Given the description of an element on the screen output the (x, y) to click on. 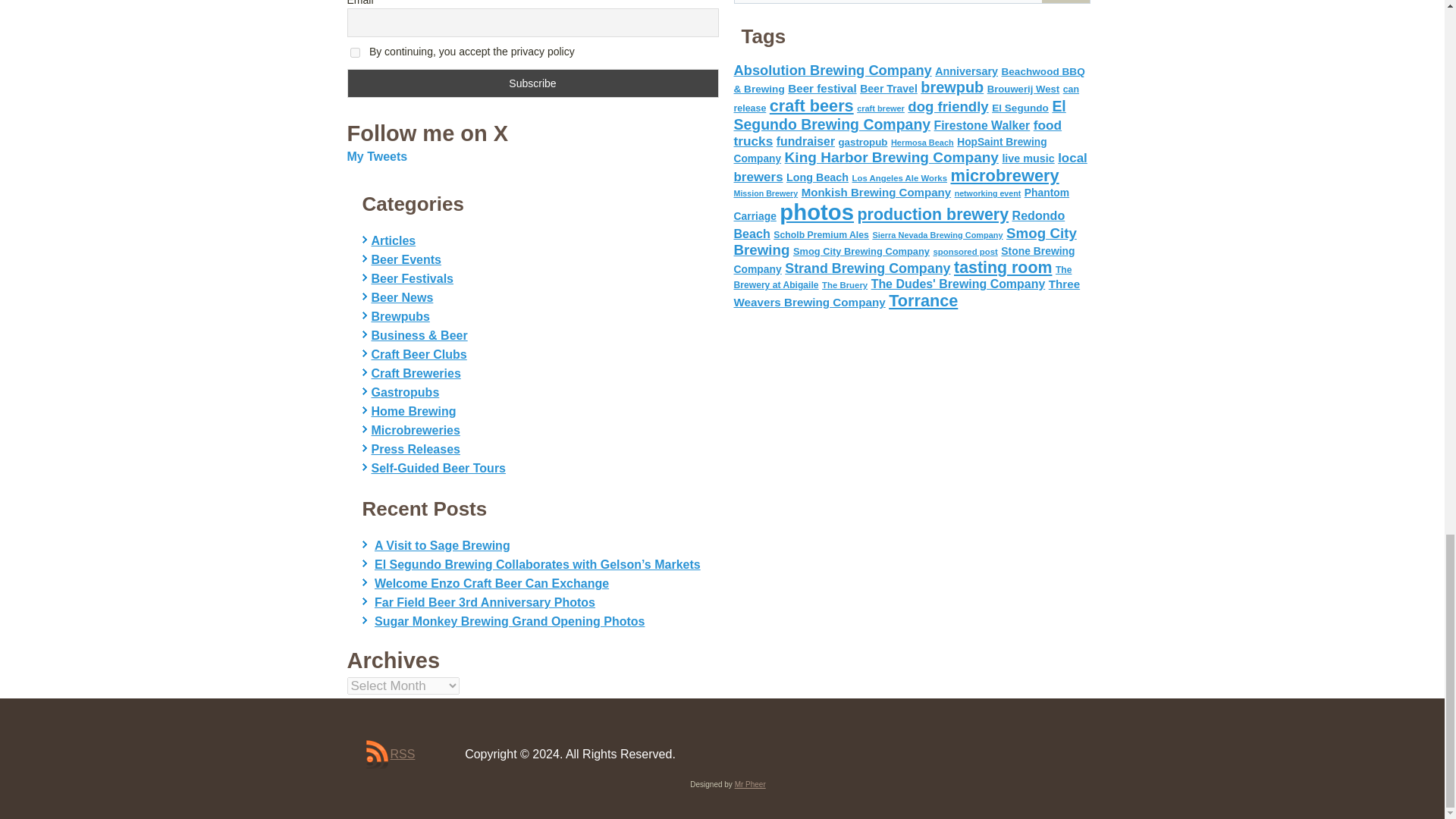
Search (1065, 1)
Subscribe (533, 82)
Search (1065, 1)
on (354, 52)
